Given the description of an element on the screen output the (x, y) to click on. 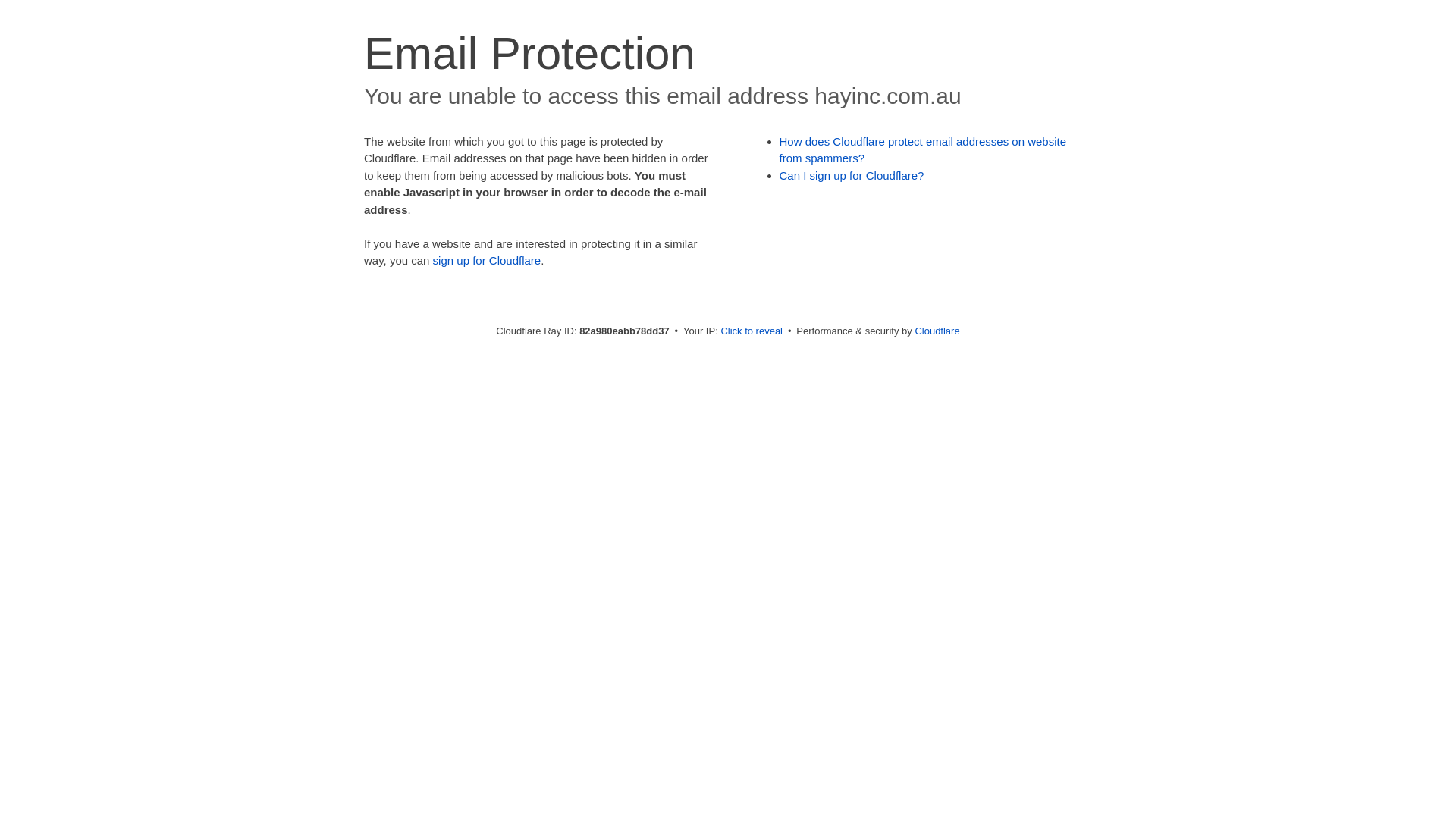
Cloudflare Element type: text (936, 330)
Click to reveal Element type: text (751, 330)
Can I sign up for Cloudflare? Element type: text (851, 175)
sign up for Cloudflare Element type: text (487, 260)
